Given the description of an element on the screen output the (x, y) to click on. 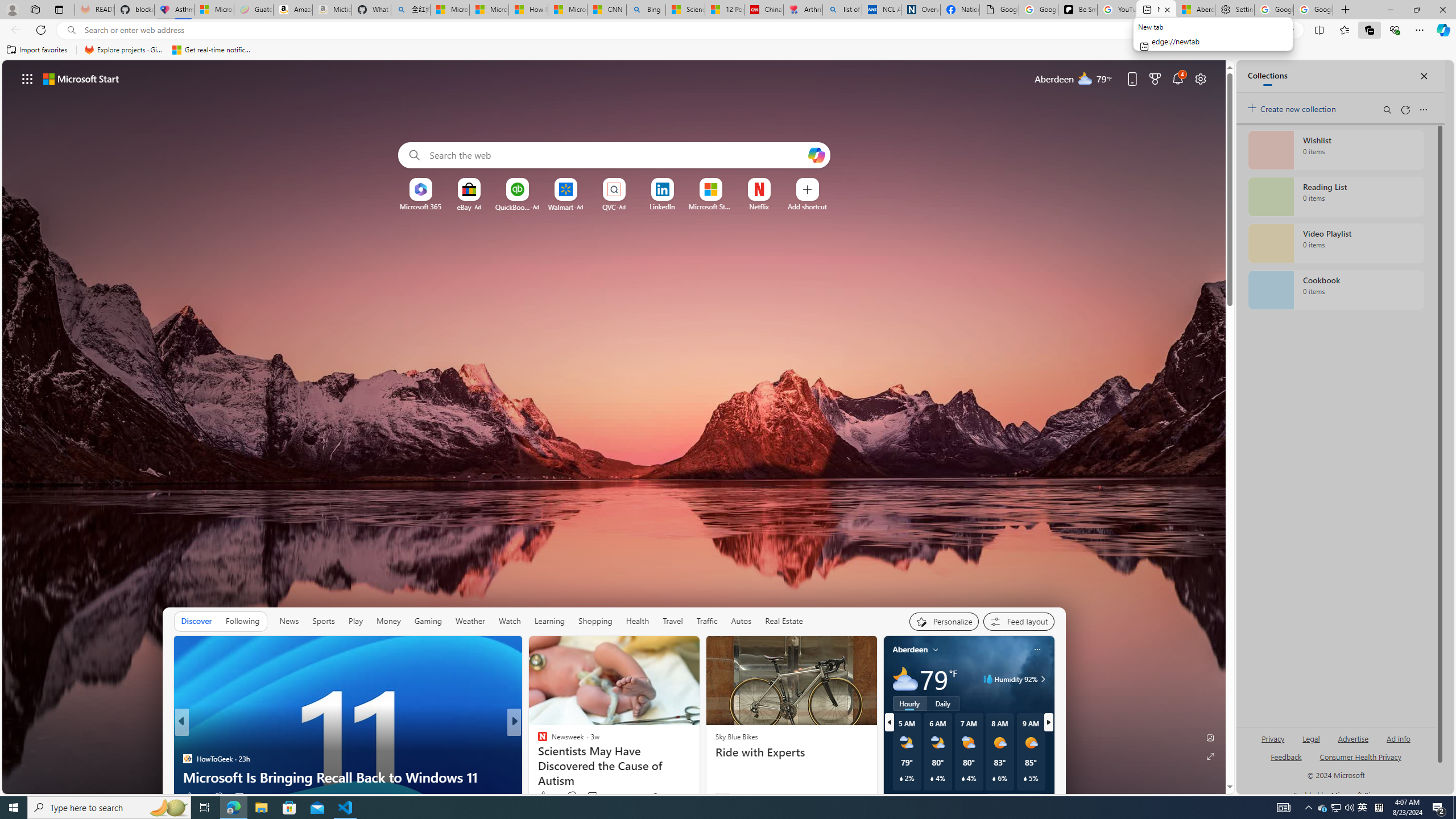
next (1047, 722)
52 Like (543, 796)
Add a site (807, 206)
Google Analytics Opt-out Browser Add-on Download Page (999, 9)
411 Like (545, 796)
View comments 4 Comment (592, 796)
